Given the description of an element on the screen output the (x, y) to click on. 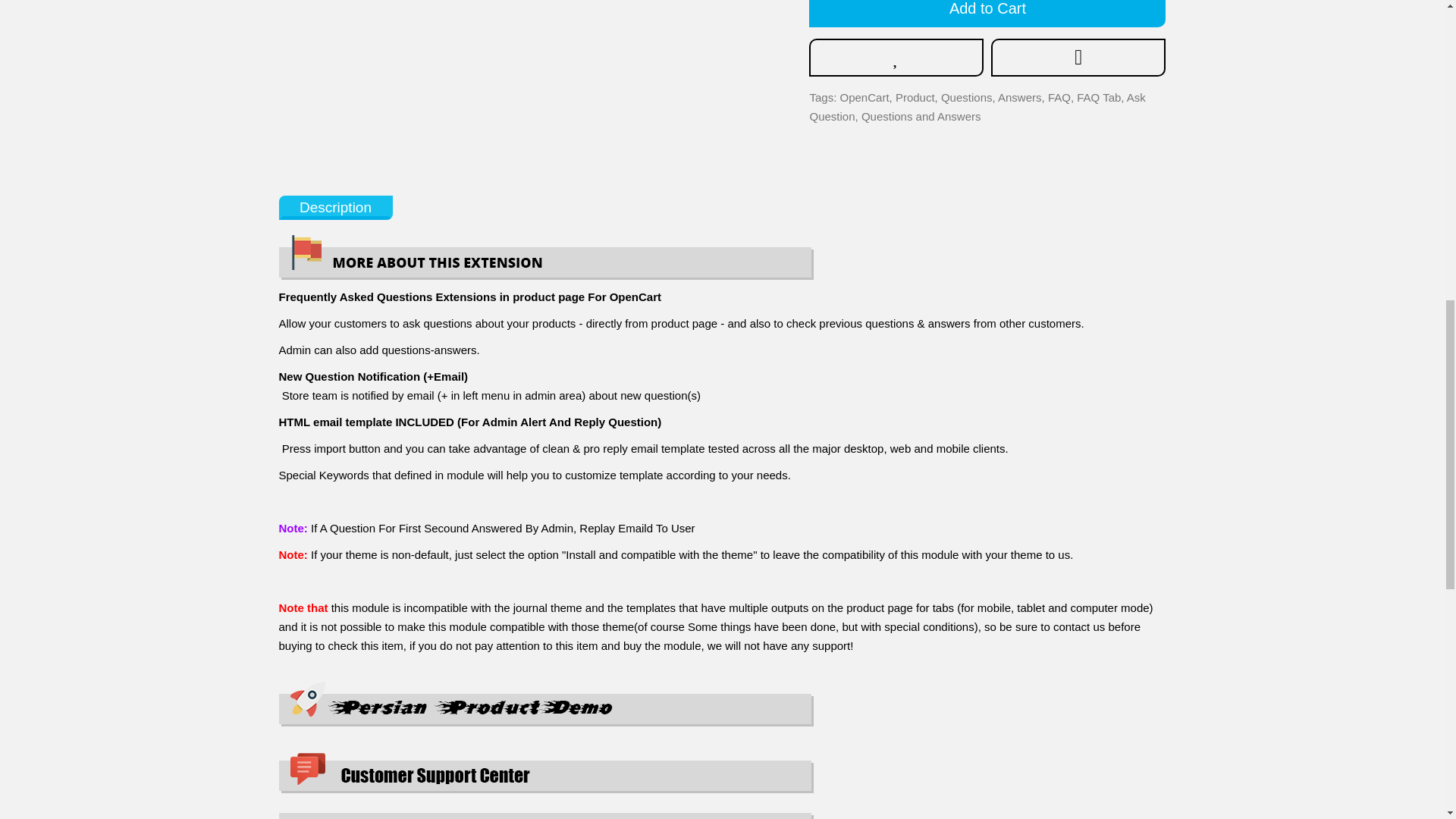
Description (546, 257)
Persian Demo (546, 703)
Customer Support Center (546, 772)
Help To Install (546, 809)
